Given the description of an element on the screen output the (x, y) to click on. 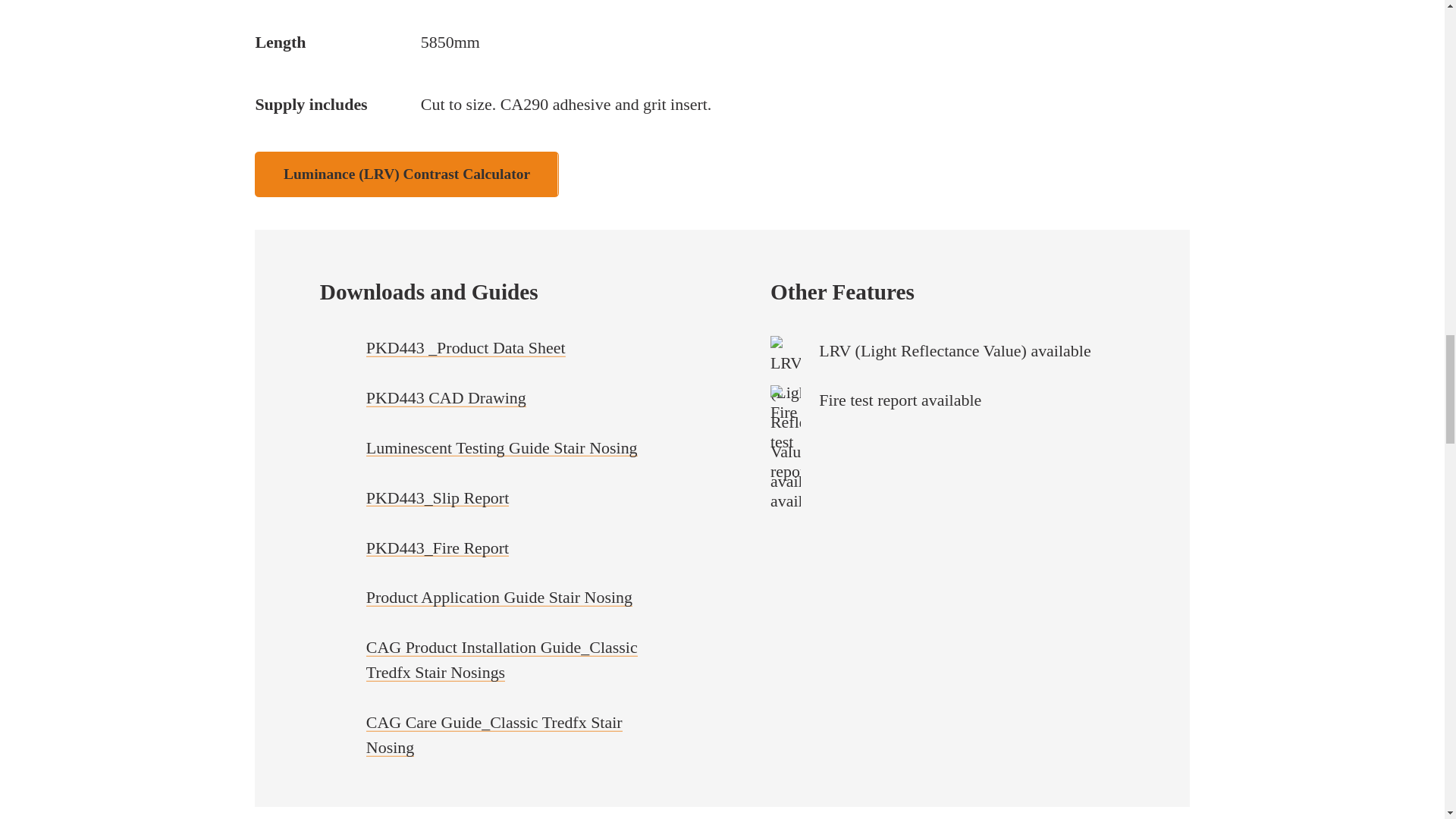
PKD443 (405, 174)
